Given the description of an element on the screen output the (x, y) to click on. 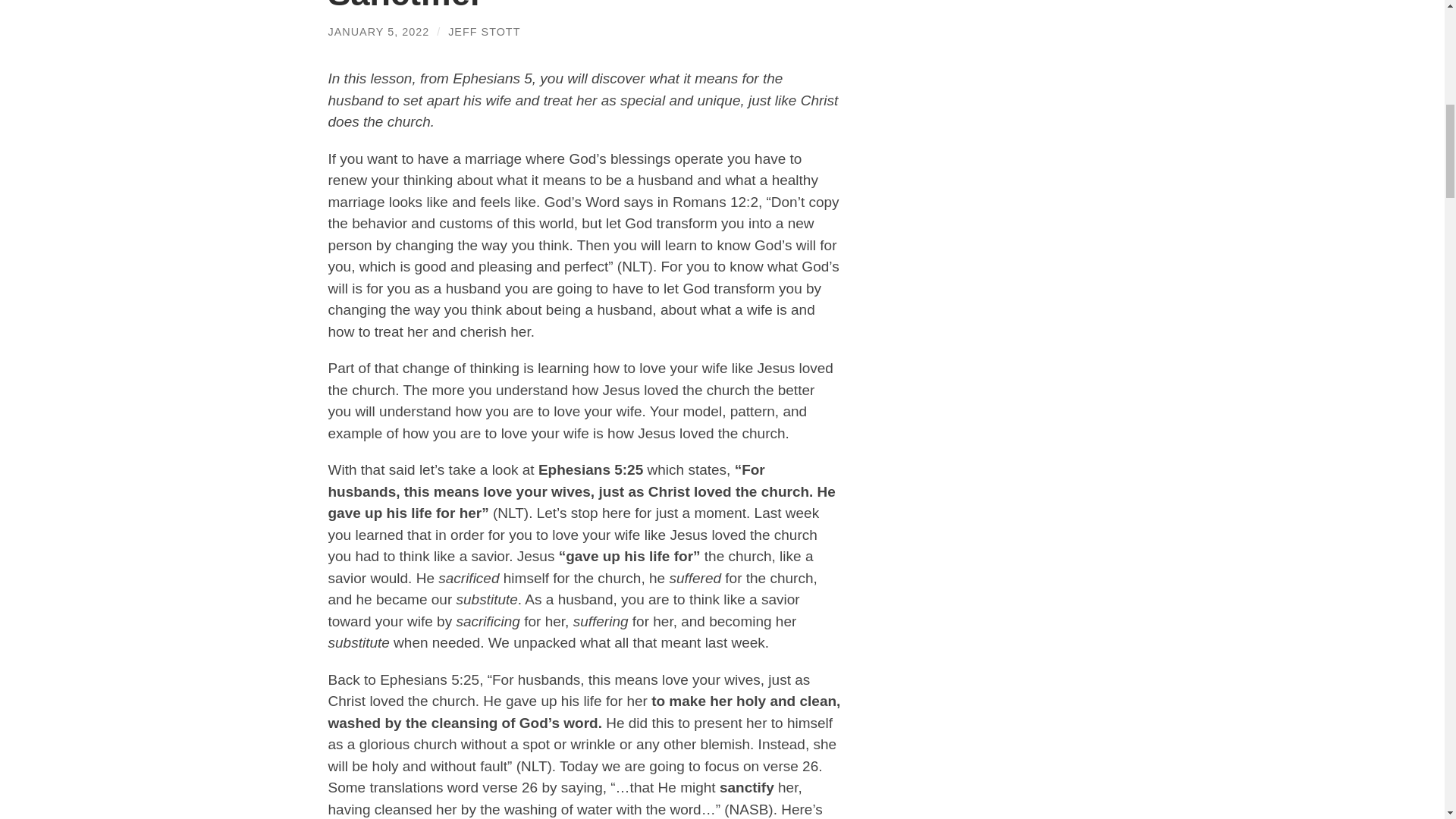
Posts by Jeff Stott (483, 31)
